Given the description of an element on the screen output the (x, y) to click on. 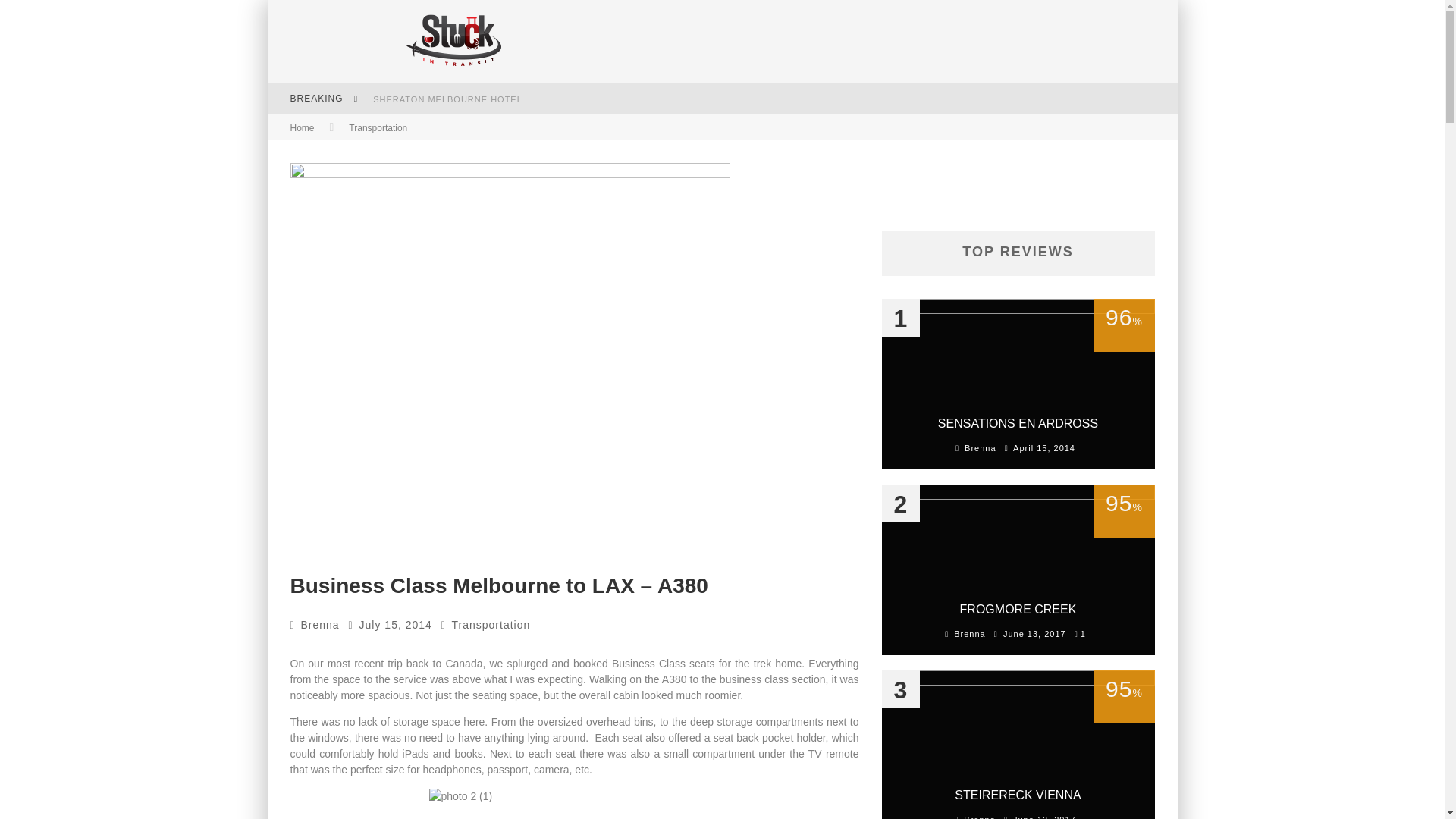
View all posts in Transportation (491, 624)
Log In (721, 470)
Transportation (378, 127)
Sheraton Melbourne Hotel (447, 99)
SHERATON MELBOURNE HOTEL (447, 99)
Transportation (491, 624)
View all posts in Transportation (378, 127)
Brenna (320, 624)
Home (301, 127)
